Given the description of an element on the screen output the (x, y) to click on. 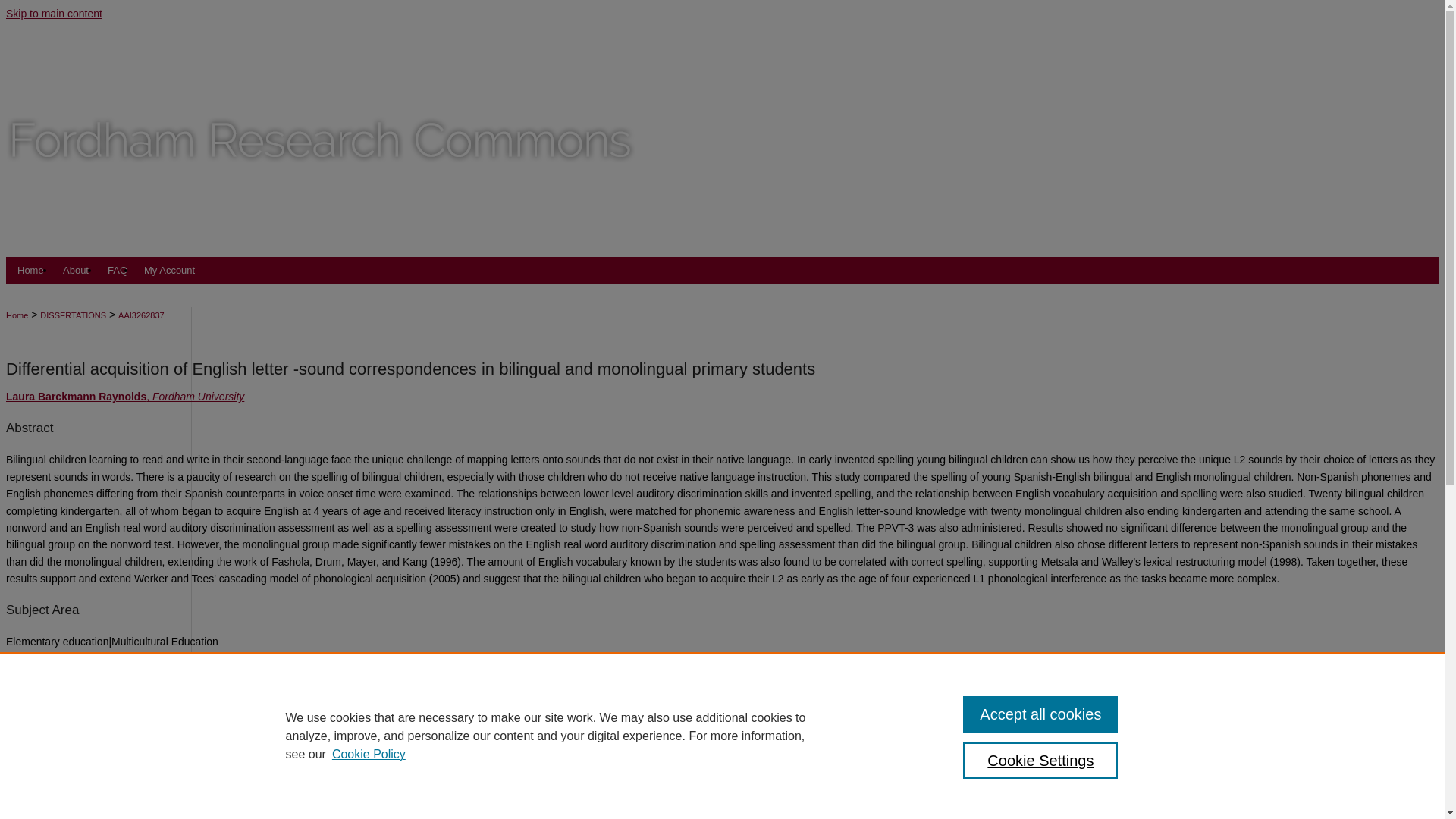
About (77, 270)
My Account (170, 270)
Home (30, 270)
View More (28, 748)
Skip to main content (53, 13)
Home (16, 315)
Laura Barckmann Raynolds, Fordham University (124, 396)
About (77, 270)
Home (30, 270)
AAI3262837 (140, 315)
FAQ (117, 270)
FAQ (117, 270)
Download (28, 748)
My Account (170, 270)
DISSERTATIONS (73, 315)
